Given the description of an element on the screen output the (x, y) to click on. 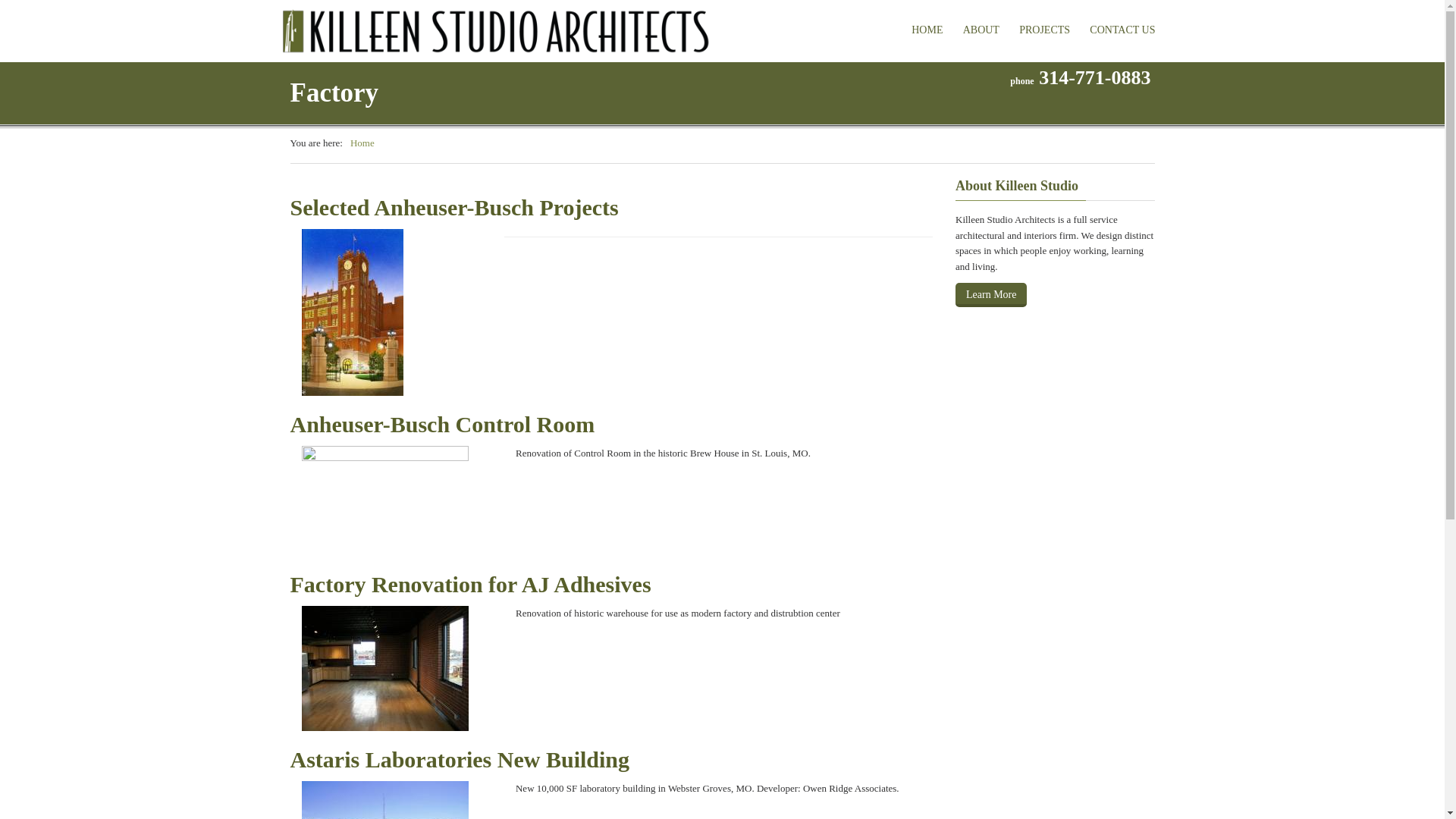
PROJECTS (1044, 30)
Learn More (990, 294)
Astaris Laboratories New Building (611, 759)
CONTACT US (1122, 30)
Home (362, 142)
Factory Renovation for AJ Adhesives (611, 584)
Anheuser-Busch Control Room (611, 424)
Selected Anheuser-Busch Projects (611, 207)
HOME (926, 30)
ABOUT (981, 30)
